Given the description of an element on the screen output the (x, y) to click on. 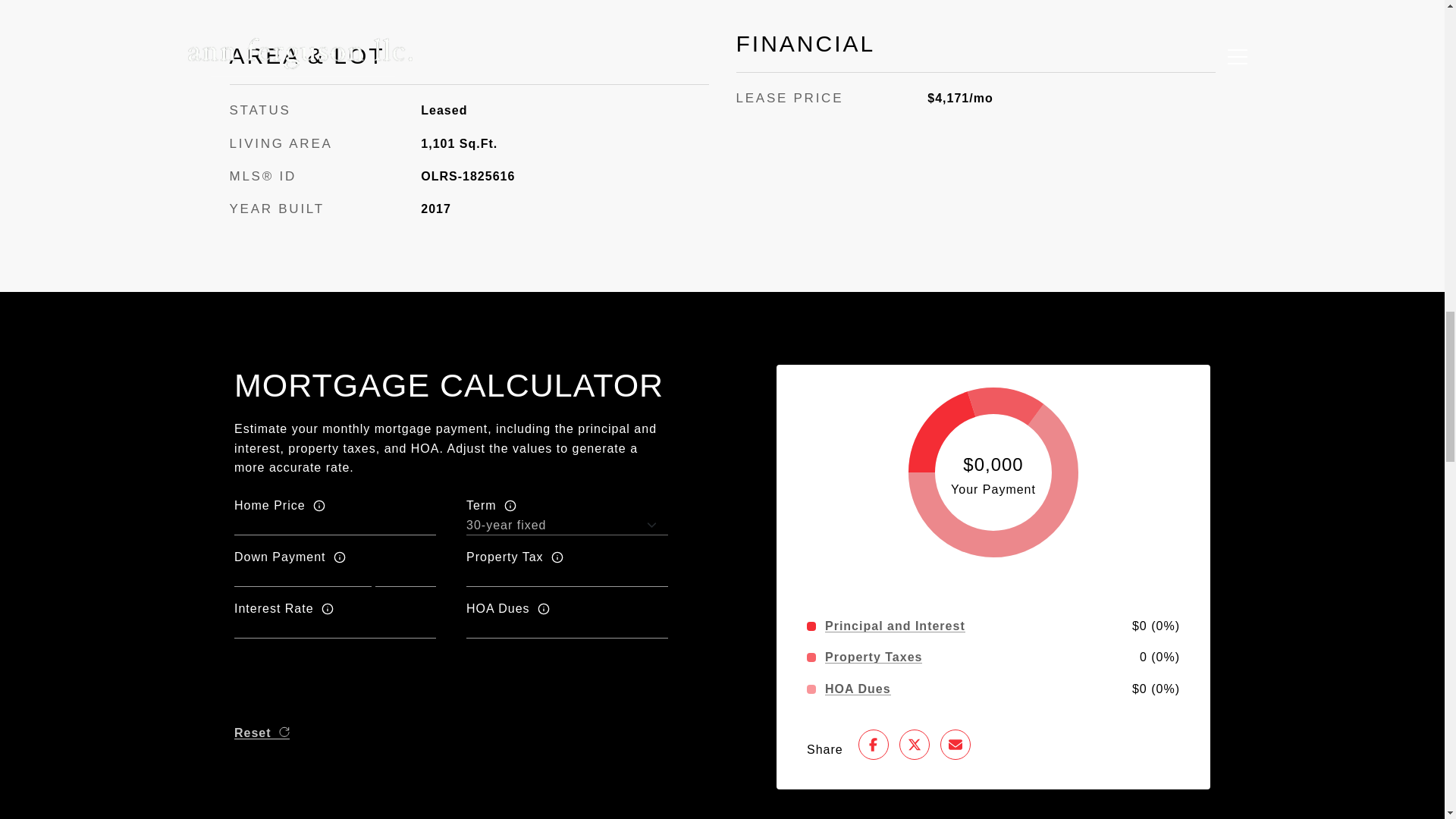
Reset (261, 732)
Principal and Interest (895, 625)
Property Taxes (873, 657)
